Given the description of an element on the screen output the (x, y) to click on. 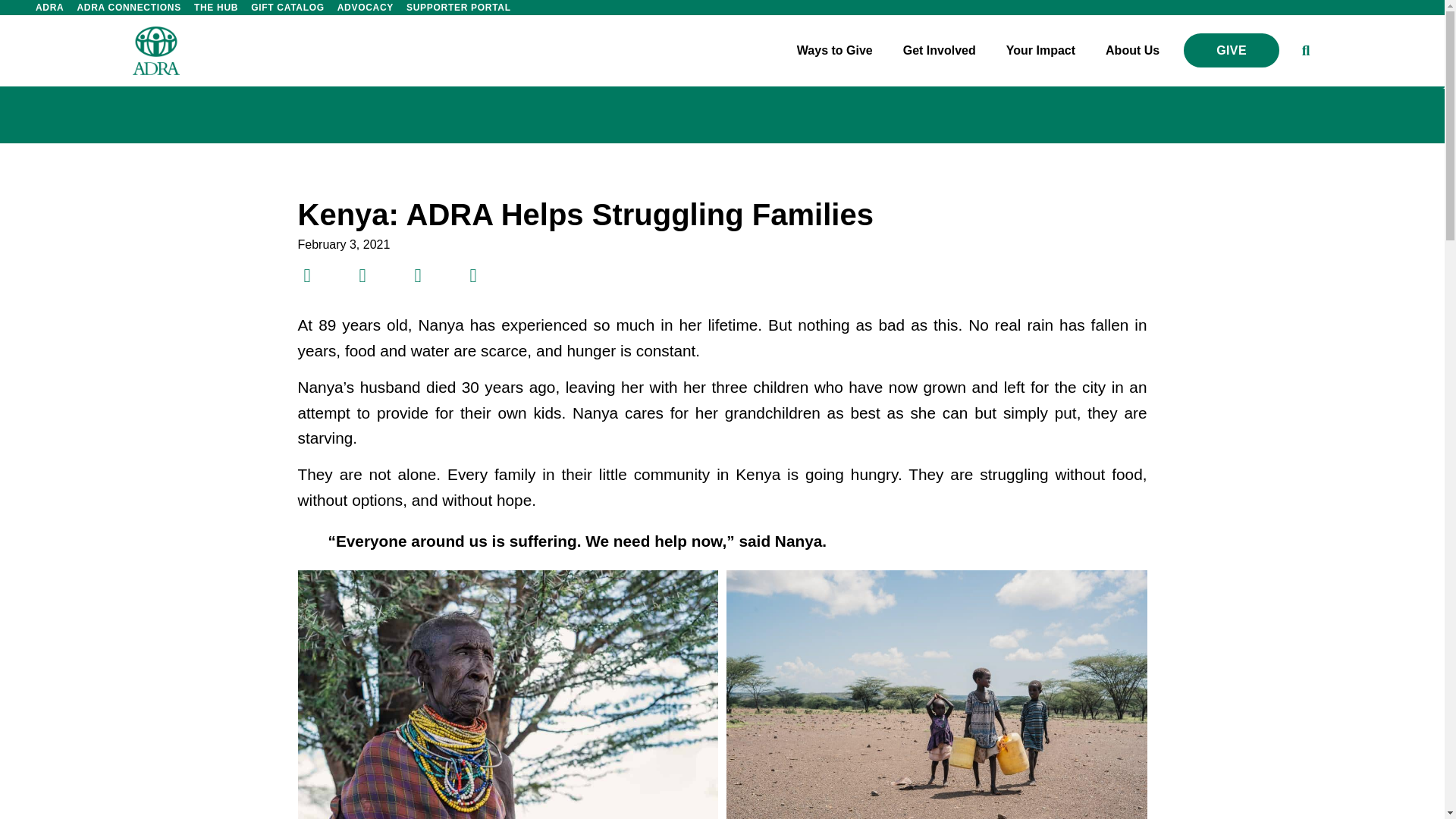
THE HUB (216, 7)
SUPPORTER PORTAL (458, 7)
ADRA (49, 7)
Get Involved (939, 51)
ADRA CONNECTIONS (128, 7)
GIFT CATALOG (288, 7)
ADVOCACY (364, 7)
About Us (1132, 51)
Your Impact (1040, 51)
Ways to Give (834, 51)
